Given the description of an element on the screen output the (x, y) to click on. 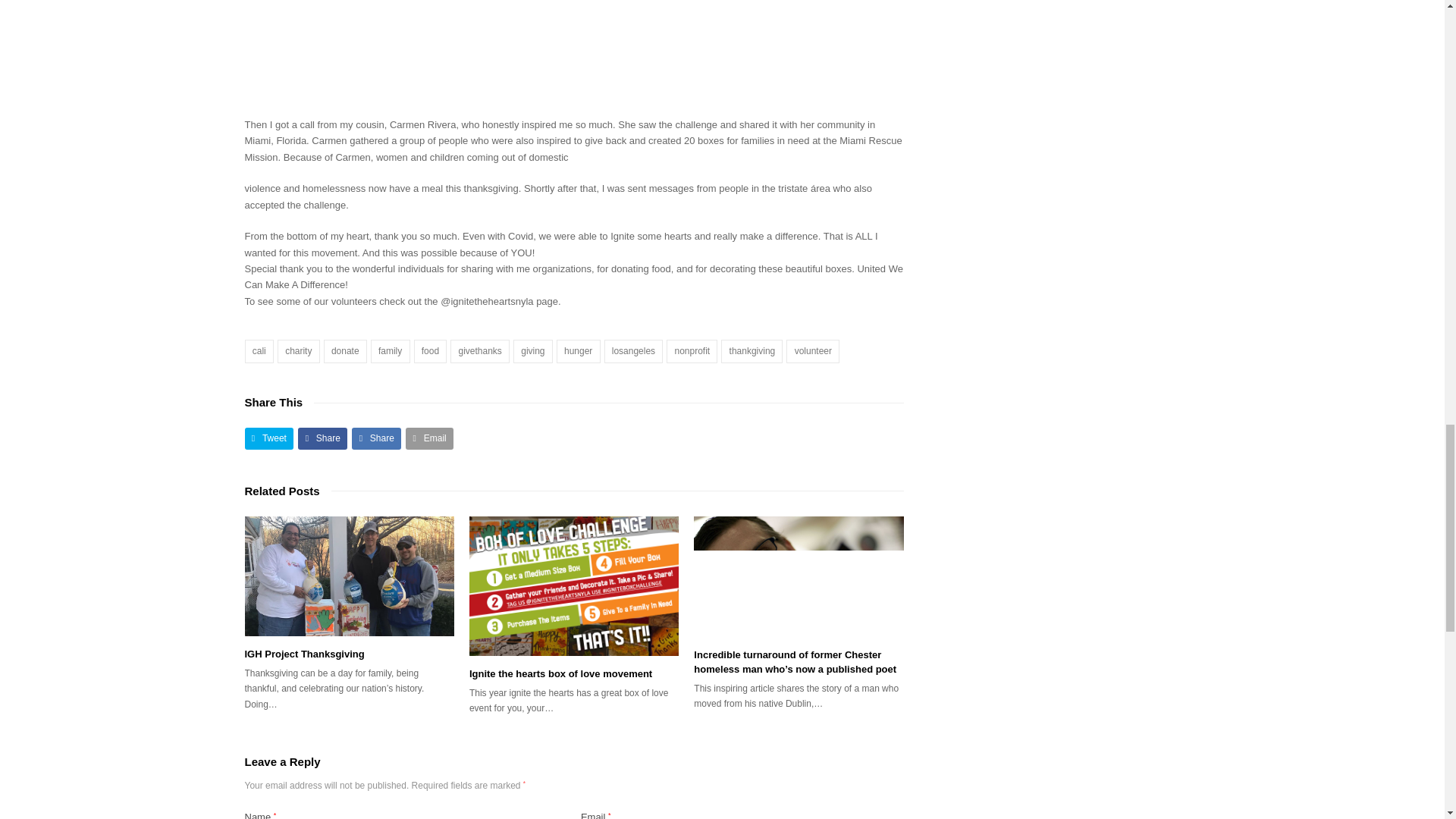
losangeles (633, 351)
Email (429, 438)
Share (322, 438)
food (429, 351)
nonprofit (691, 351)
Tweet (269, 438)
giving (533, 351)
hunger (577, 351)
cali (258, 351)
volunteer (813, 351)
